Given the description of an element on the screen output the (x, y) to click on. 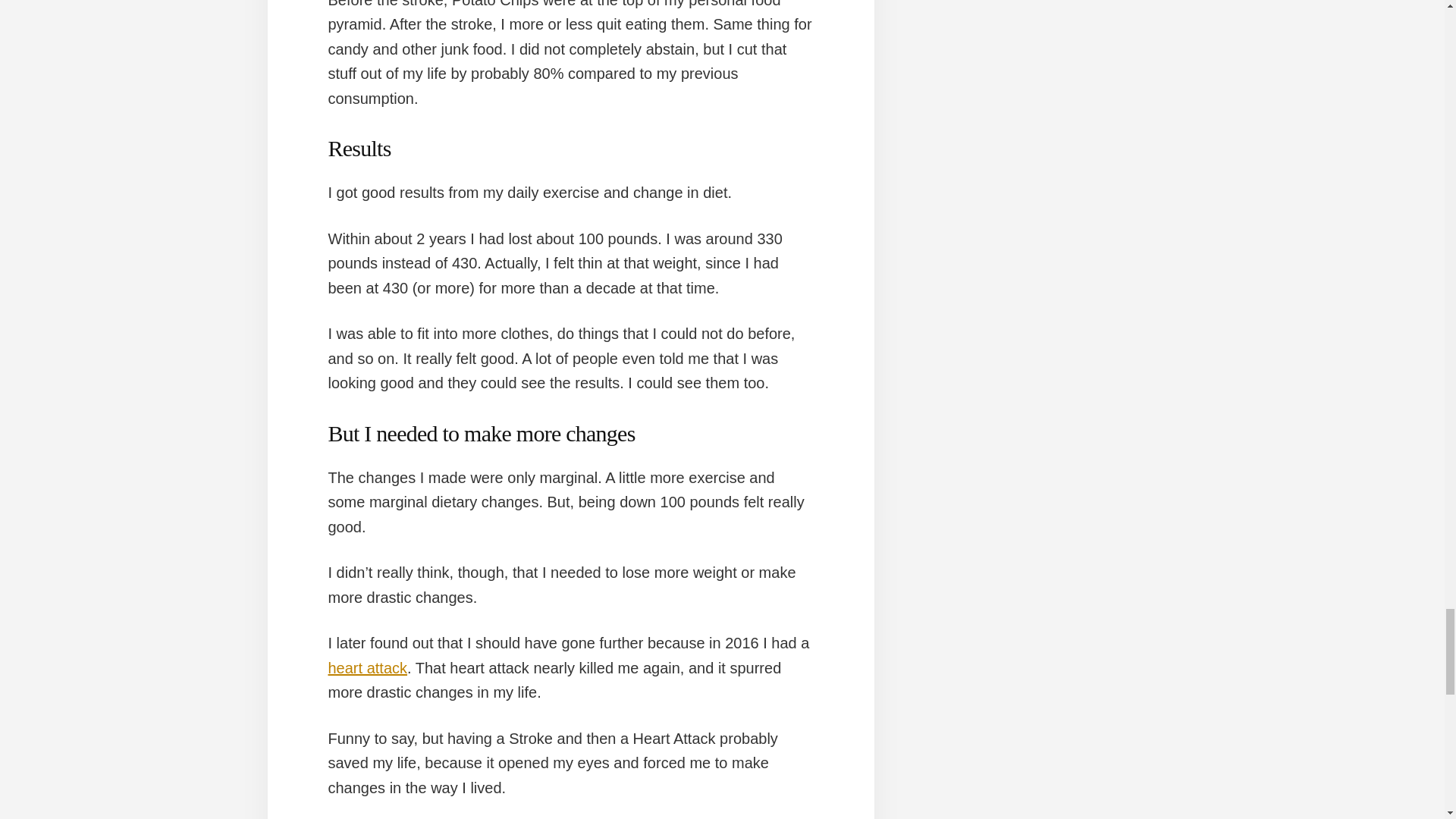
heart attack (367, 668)
